Given the description of an element on the screen output the (x, y) to click on. 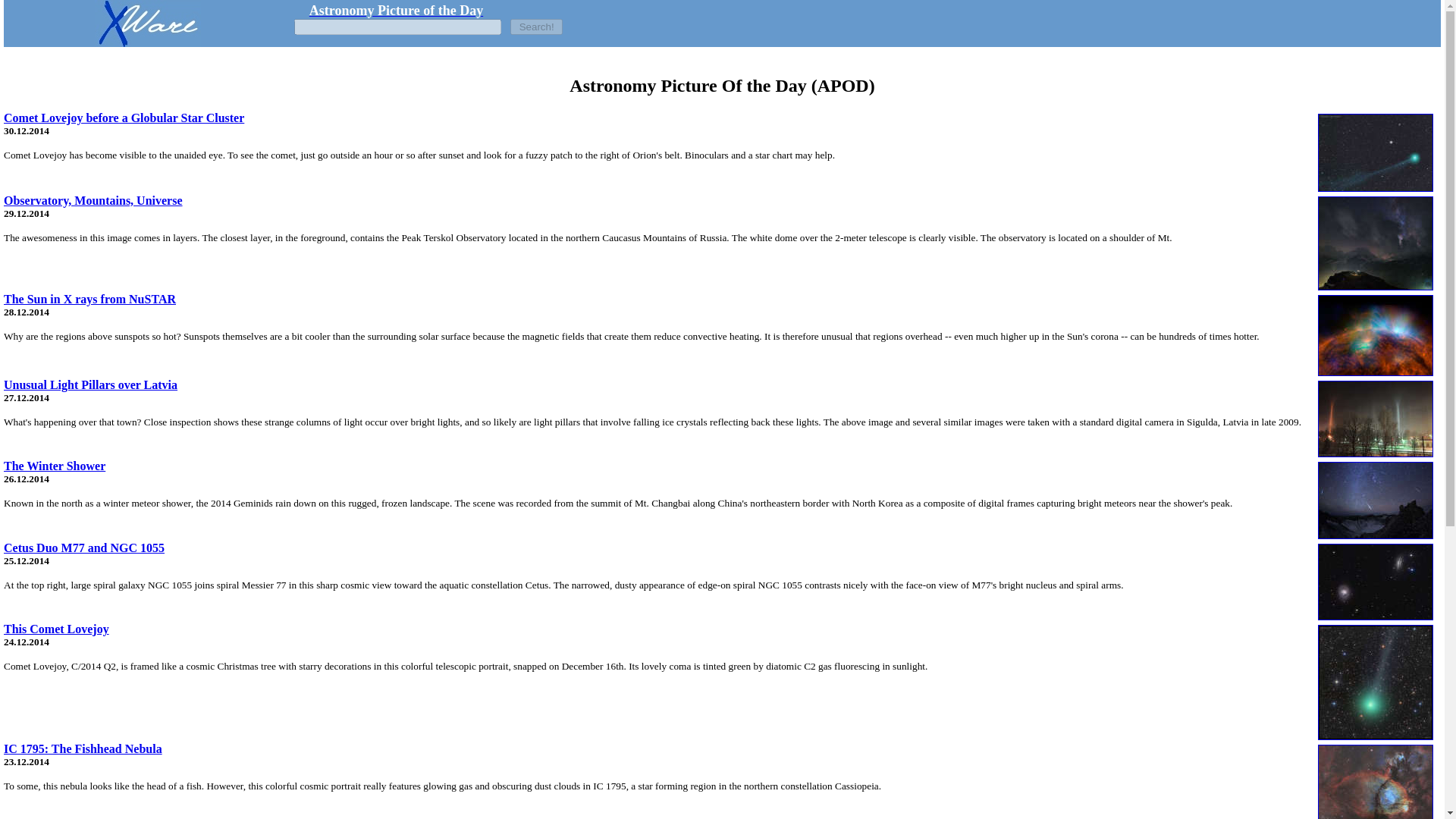
Astronomy Picture of the Day (395, 10)
Comet Lovejoy before a Globular Star Cluster (124, 117)
Unusual Light Pillars over Latvia (90, 384)
Cetus Duo M77 and NGC 1055 (84, 547)
The Winter Shower (54, 465)
IC 1795: The Fishhead Nebula (82, 748)
This Comet Lovejoy (56, 628)
Observatory, Mountains, Universe (93, 200)
The Sun in X rays from NuSTAR (90, 298)
